Given the description of an element on the screen output the (x, y) to click on. 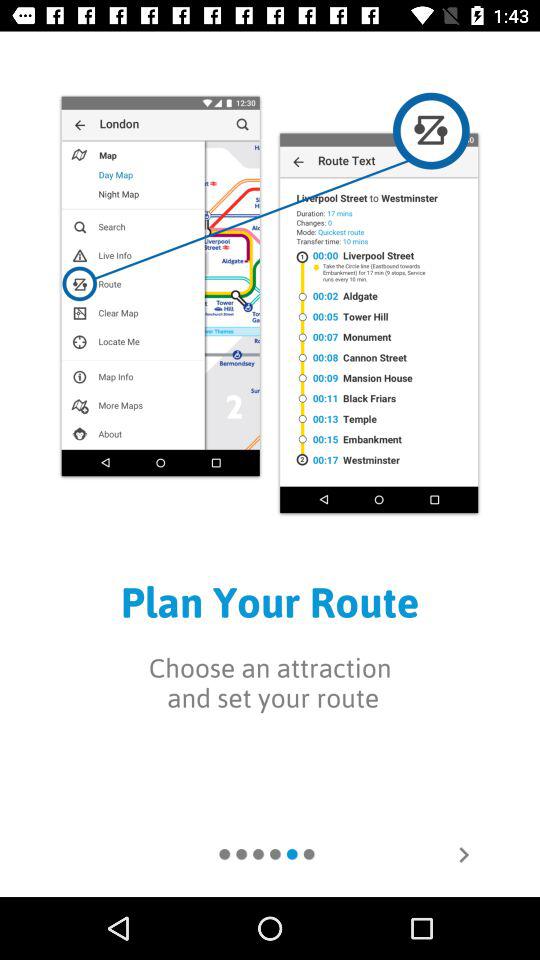
go forward (463, 855)
